Given the description of an element on the screen output the (x, y) to click on. 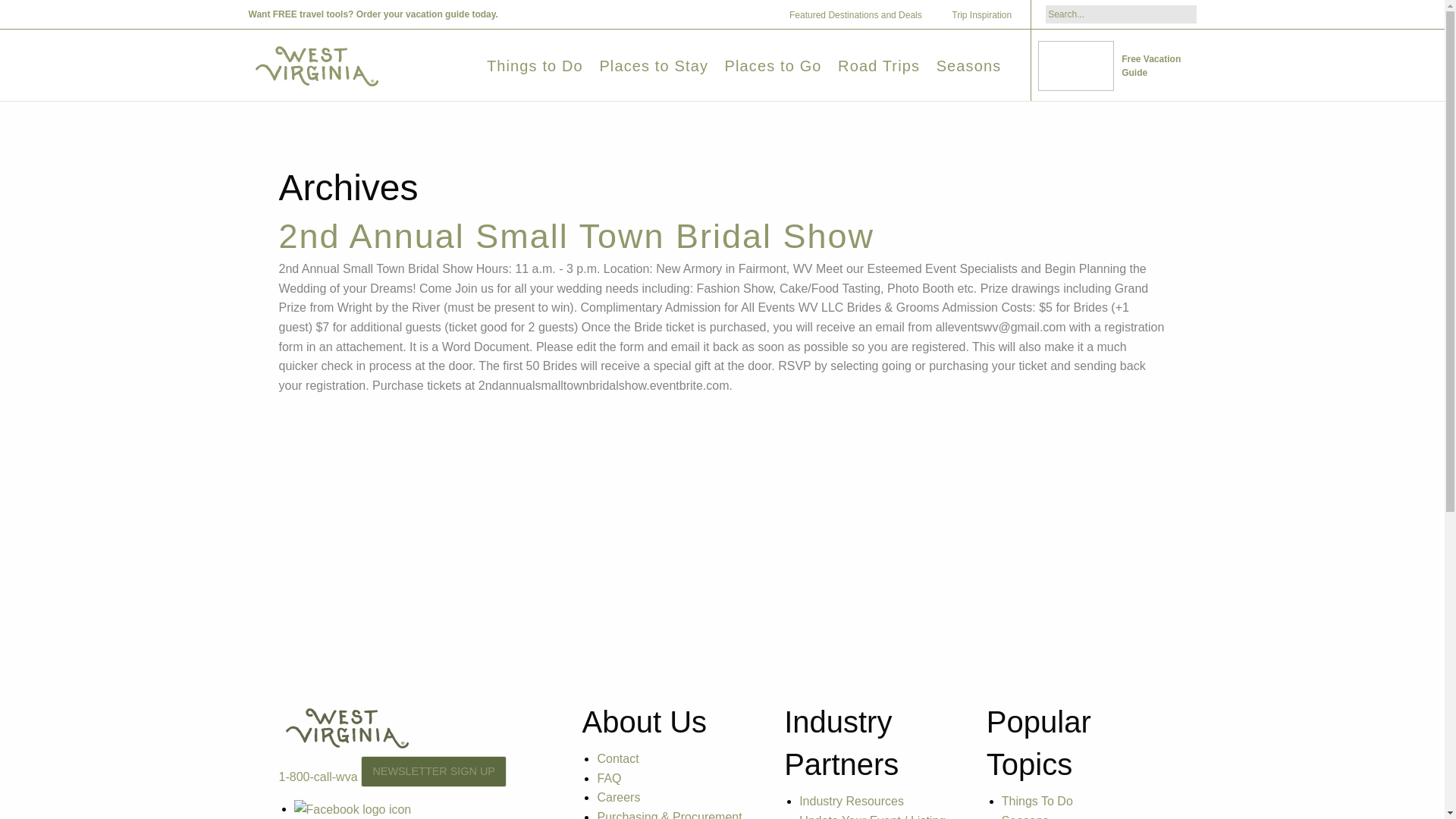
Things to Do (534, 65)
Free Vacation Guide (1116, 65)
Road Trips (879, 65)
Seasons (968, 65)
Trip Inspiration (986, 14)
Places to Go (773, 65)
Places to Stay (652, 65)
2nd Annual Small Town Bridal Show (577, 236)
Featured Destinations and Deals (860, 14)
Find us on Facebook (353, 808)
